Given the description of an element on the screen output the (x, y) to click on. 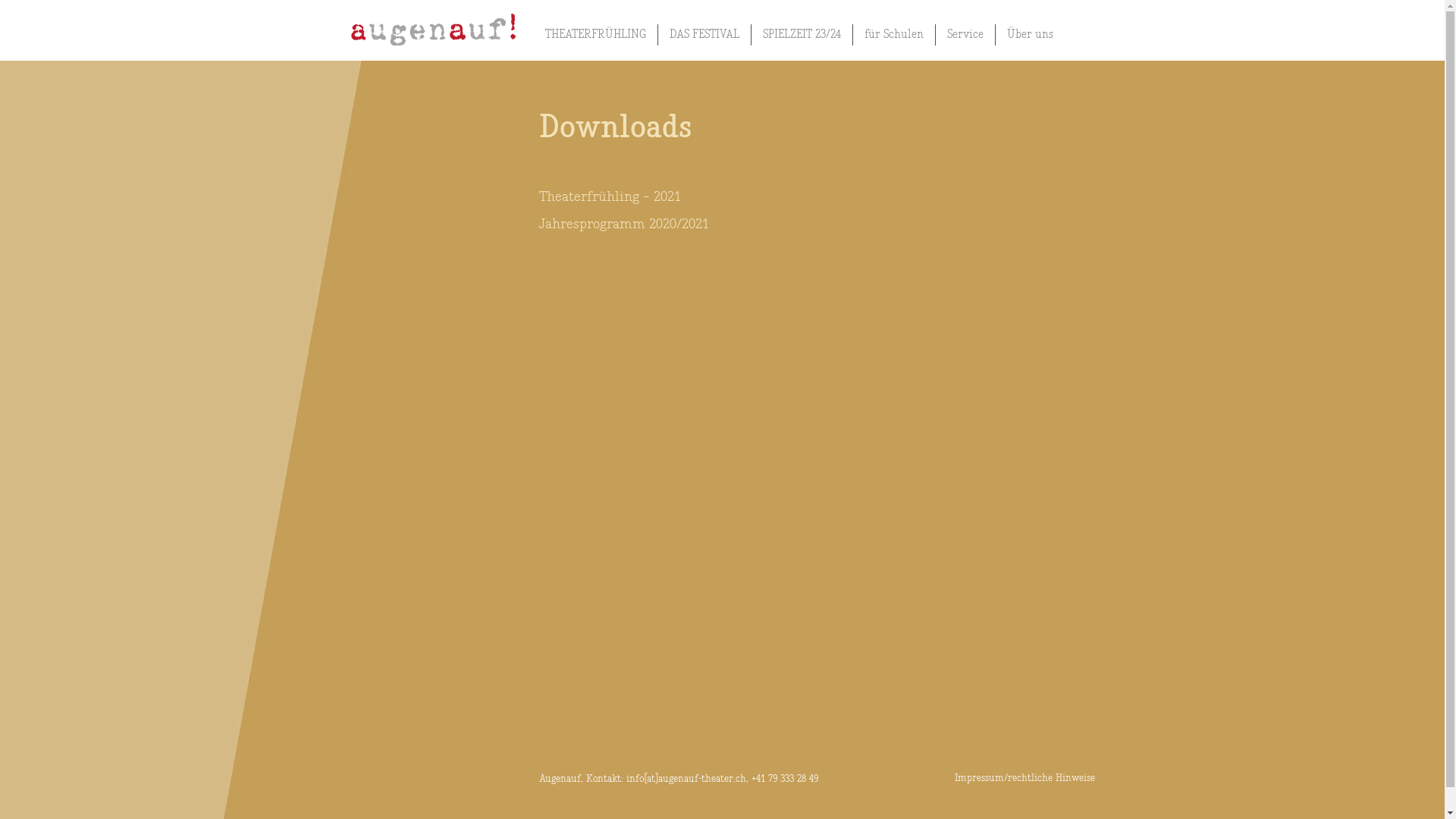
Impressum/rechtliche Hinweise Element type: text (1023, 778)
Jahresprogramm 2020/2021 Element type: text (623, 221)
info[at]augenauf-theater.ch Element type: text (686, 778)
